Given the description of an element on the screen output the (x, y) to click on. 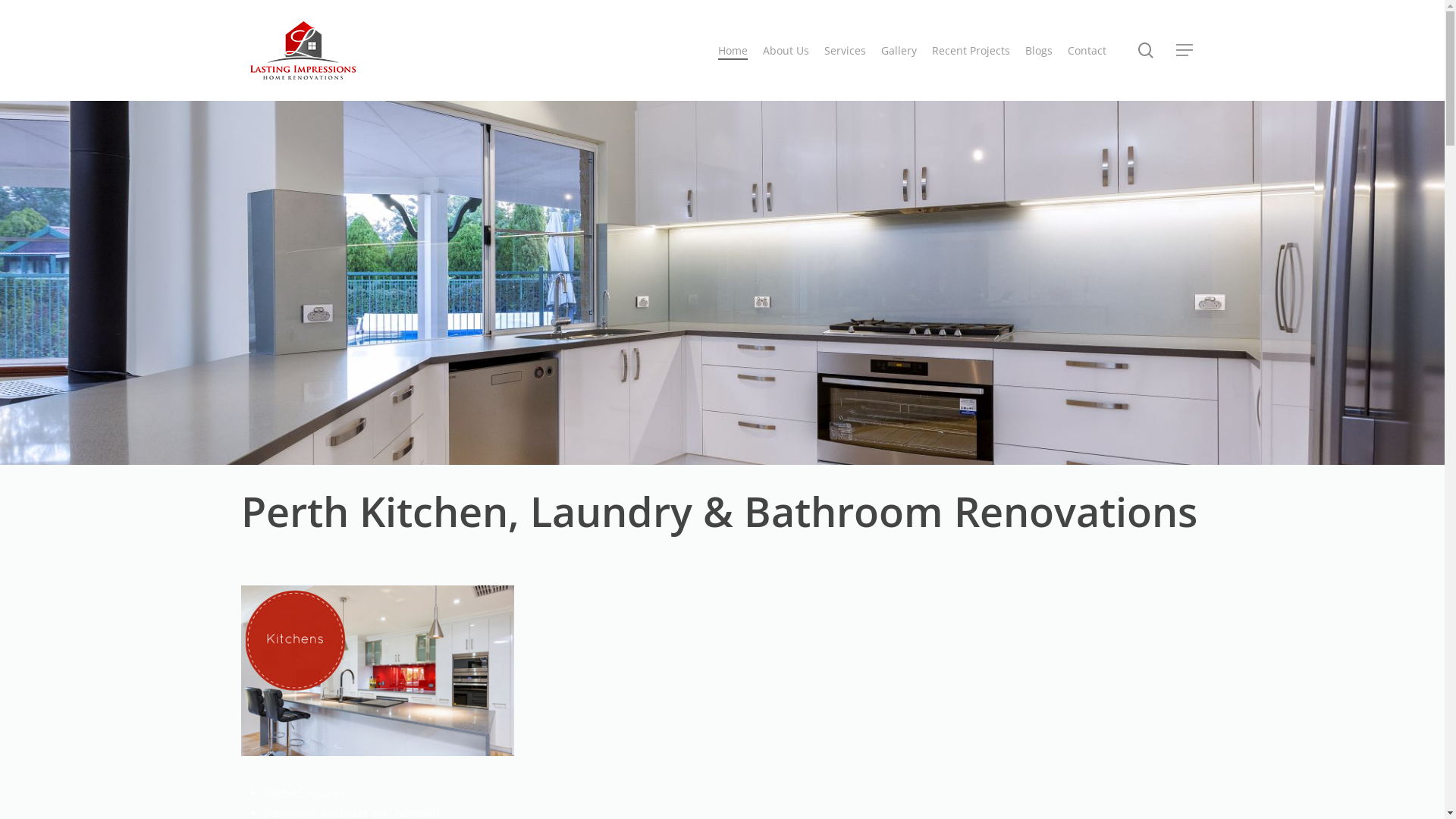
Recent Projects Element type: text (970, 49)
search Element type: text (1145, 50)
About Us Element type: text (785, 49)
Contact Element type: text (1086, 49)
Blogs Element type: text (1038, 49)
Menu Element type: text (1185, 50)
Gallery Element type: text (898, 49)
Services Element type: text (845, 49)
Home Element type: text (732, 49)
